Given the description of an element on the screen output the (x, y) to click on. 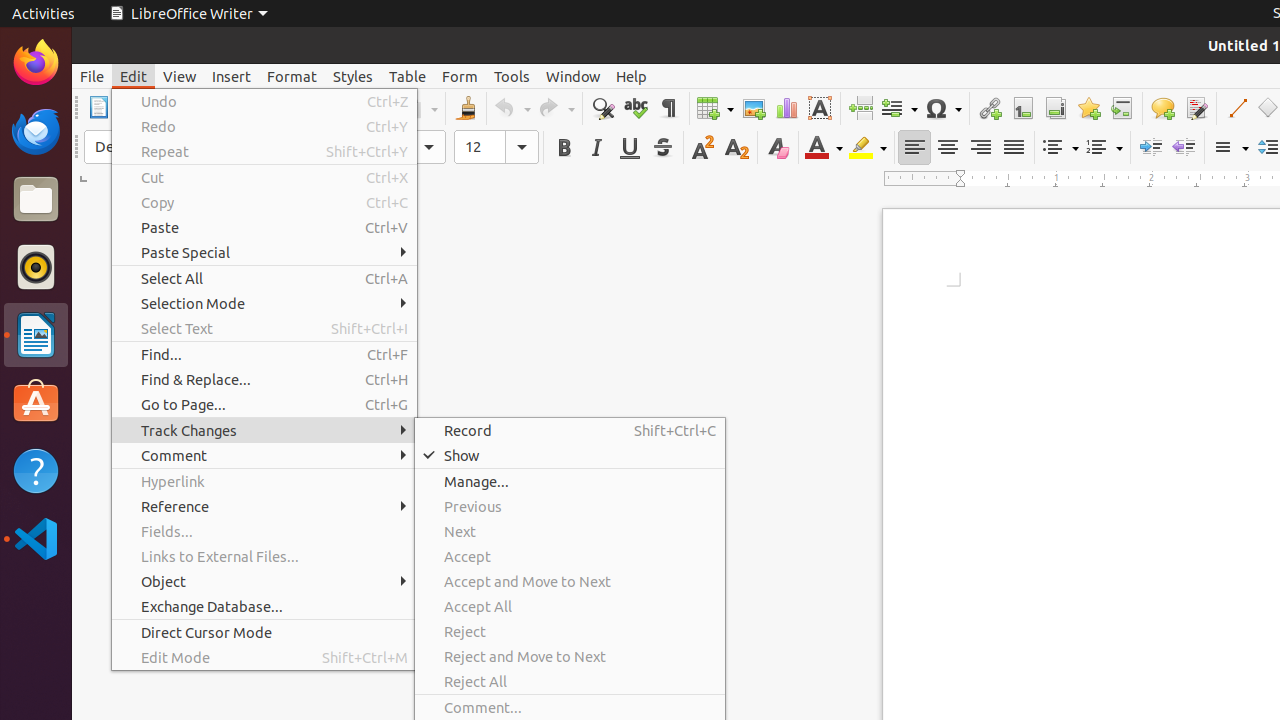
Center Element type: toggle-button (947, 147)
Undo Element type: push-button (512, 108)
Help Element type: menu (631, 76)
Line Element type: toggle-button (1236, 108)
Clone Element type: push-button (465, 108)
